Given the description of an element on the screen output the (x, y) to click on. 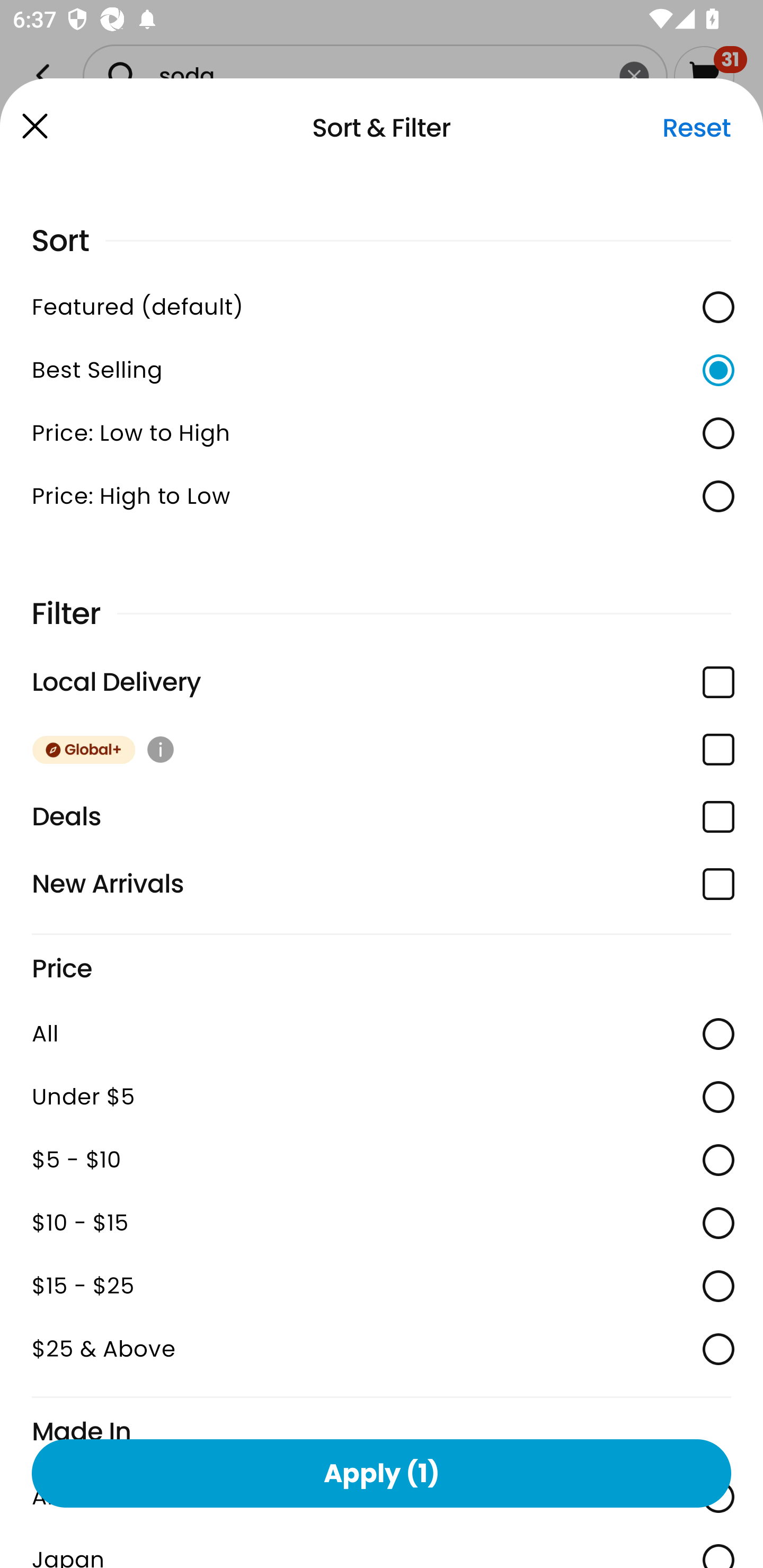
Reset (696, 127)
Apply (1) (381, 1472)
